Given the description of an element on the screen output the (x, y) to click on. 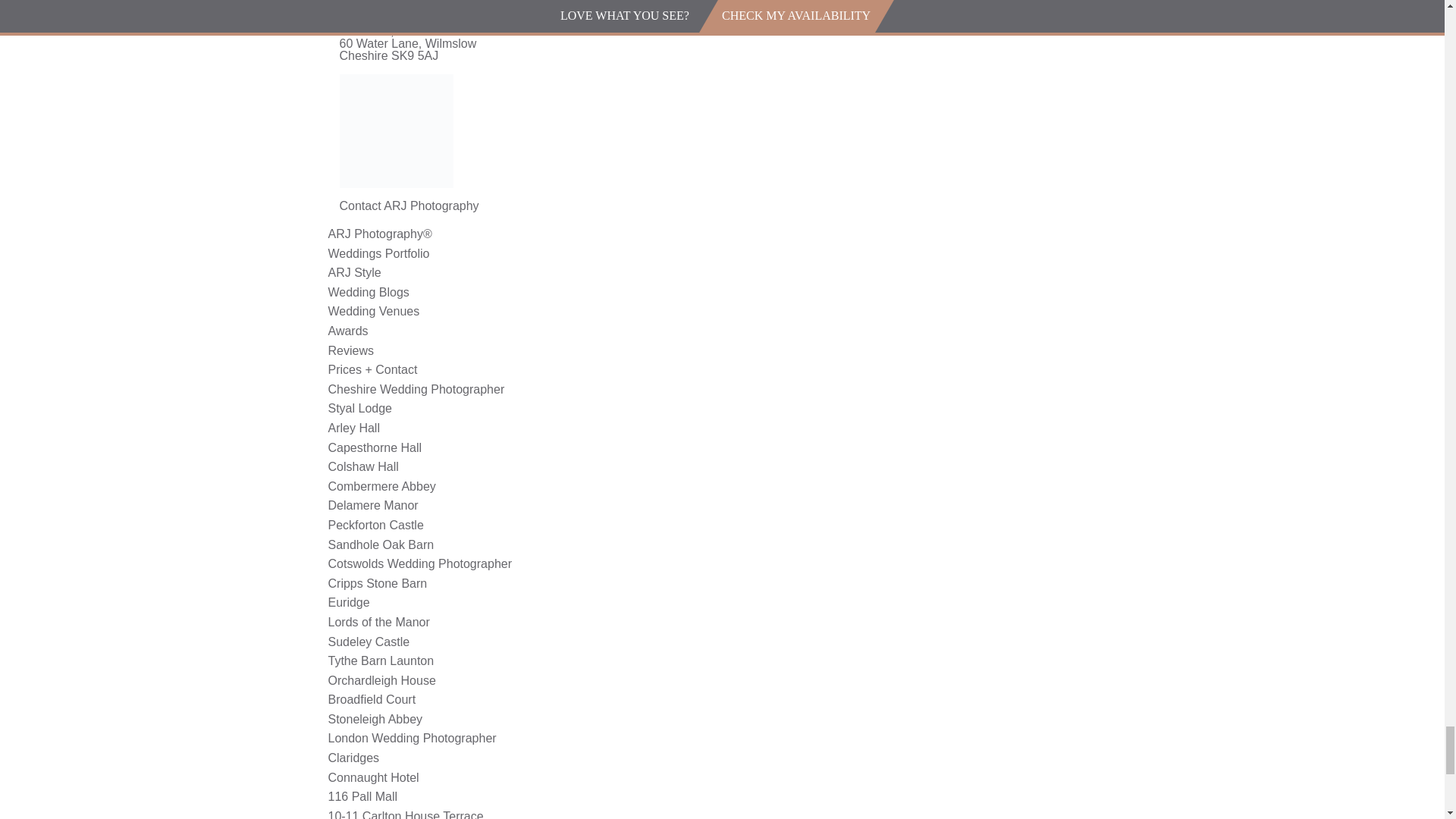
Contact ARJ Photography (409, 205)
